Given the description of an element on the screen output the (x, y) to click on. 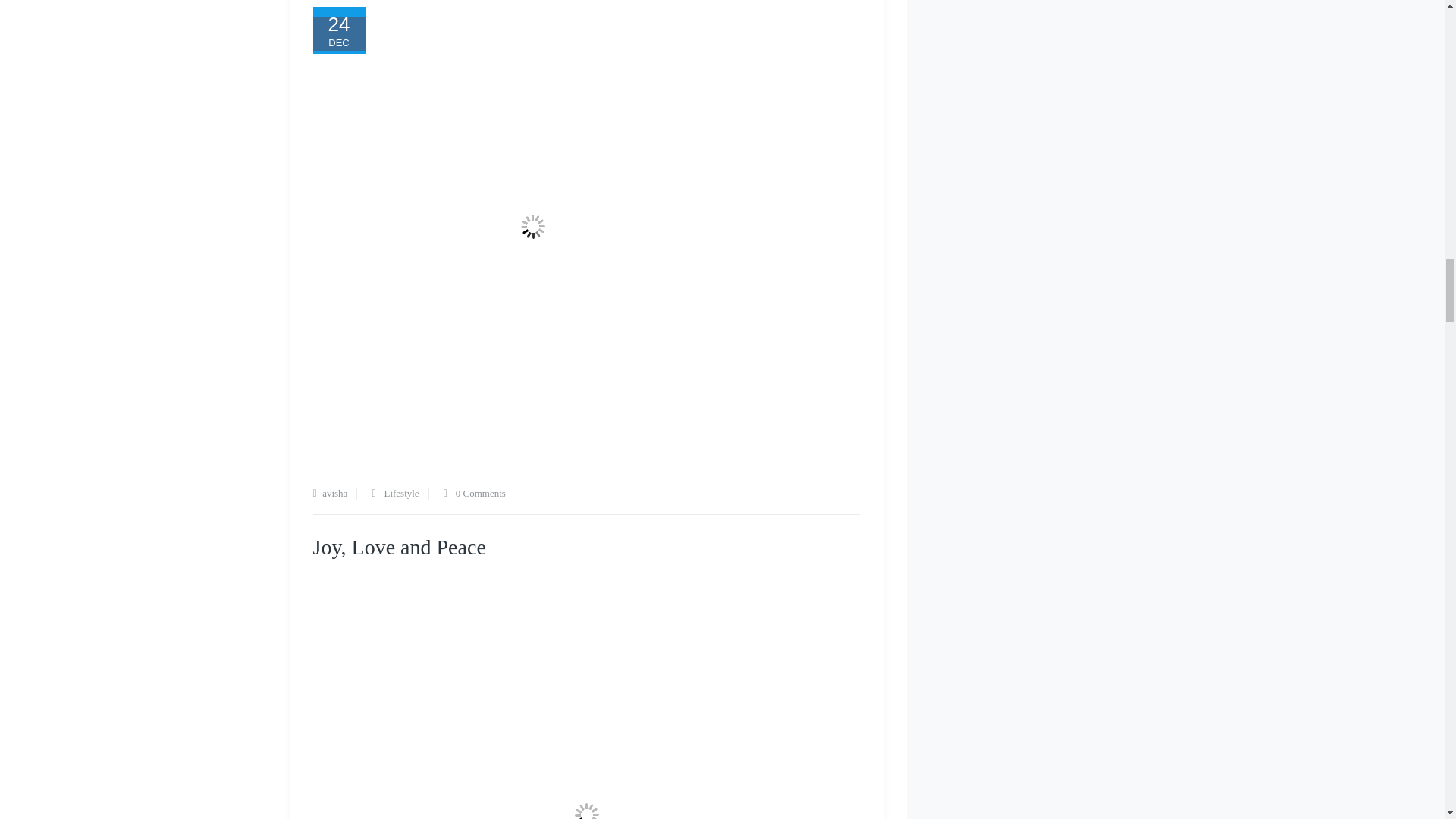
avisha (334, 492)
Lifestyle (401, 492)
